Given the description of an element on the screen output the (x, y) to click on. 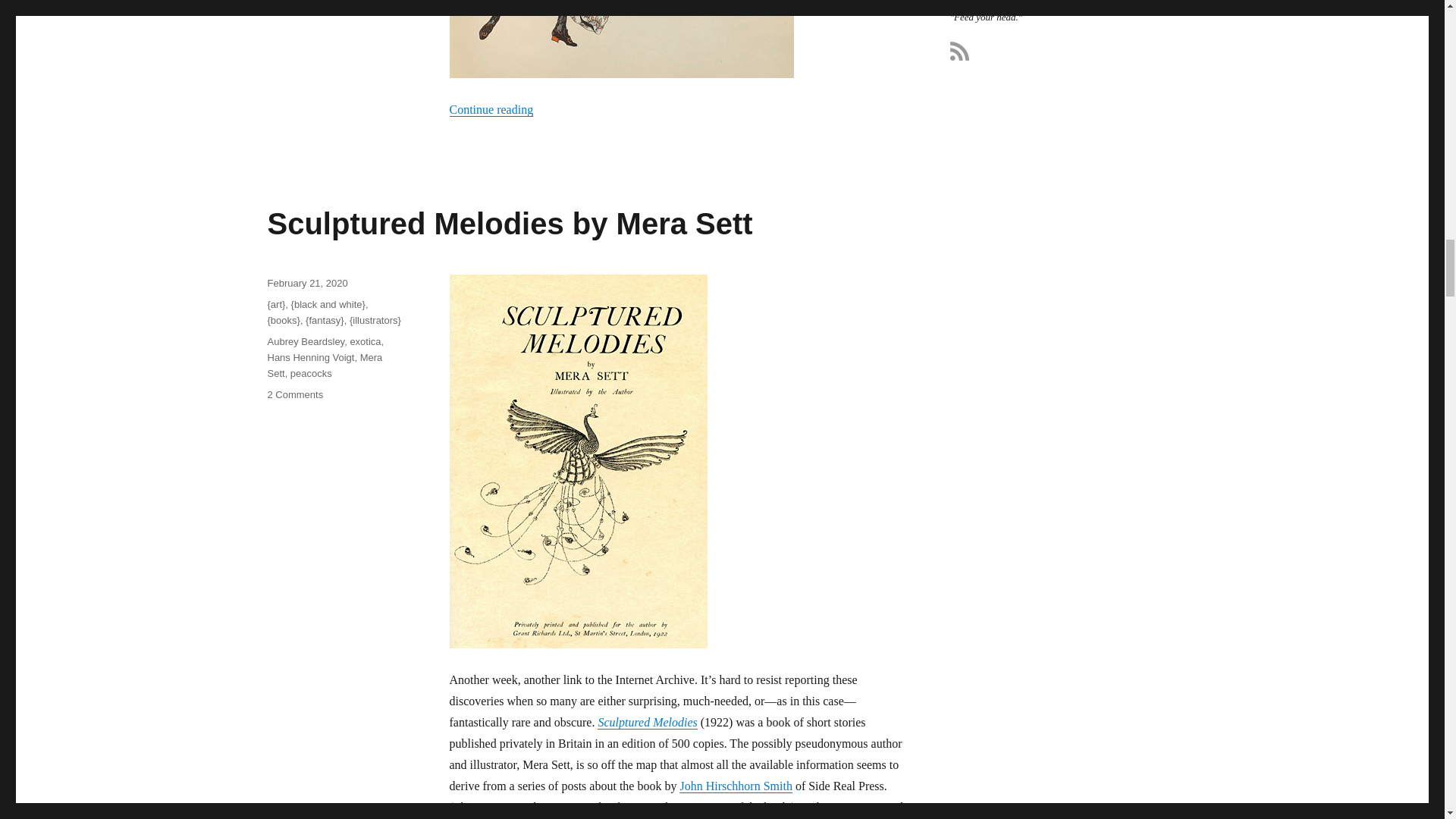
peacocks (310, 373)
Aubrey Beardsley (304, 341)
Mera Sett (323, 365)
Sculptured Melodies by Mera Sett (509, 223)
Sculptured Melodies (294, 394)
February 21, 2020 (646, 721)
John Hirschhorn Smith (306, 283)
exotica (735, 785)
Hans Henning Voigt (364, 341)
